Given the description of an element on the screen output the (x, y) to click on. 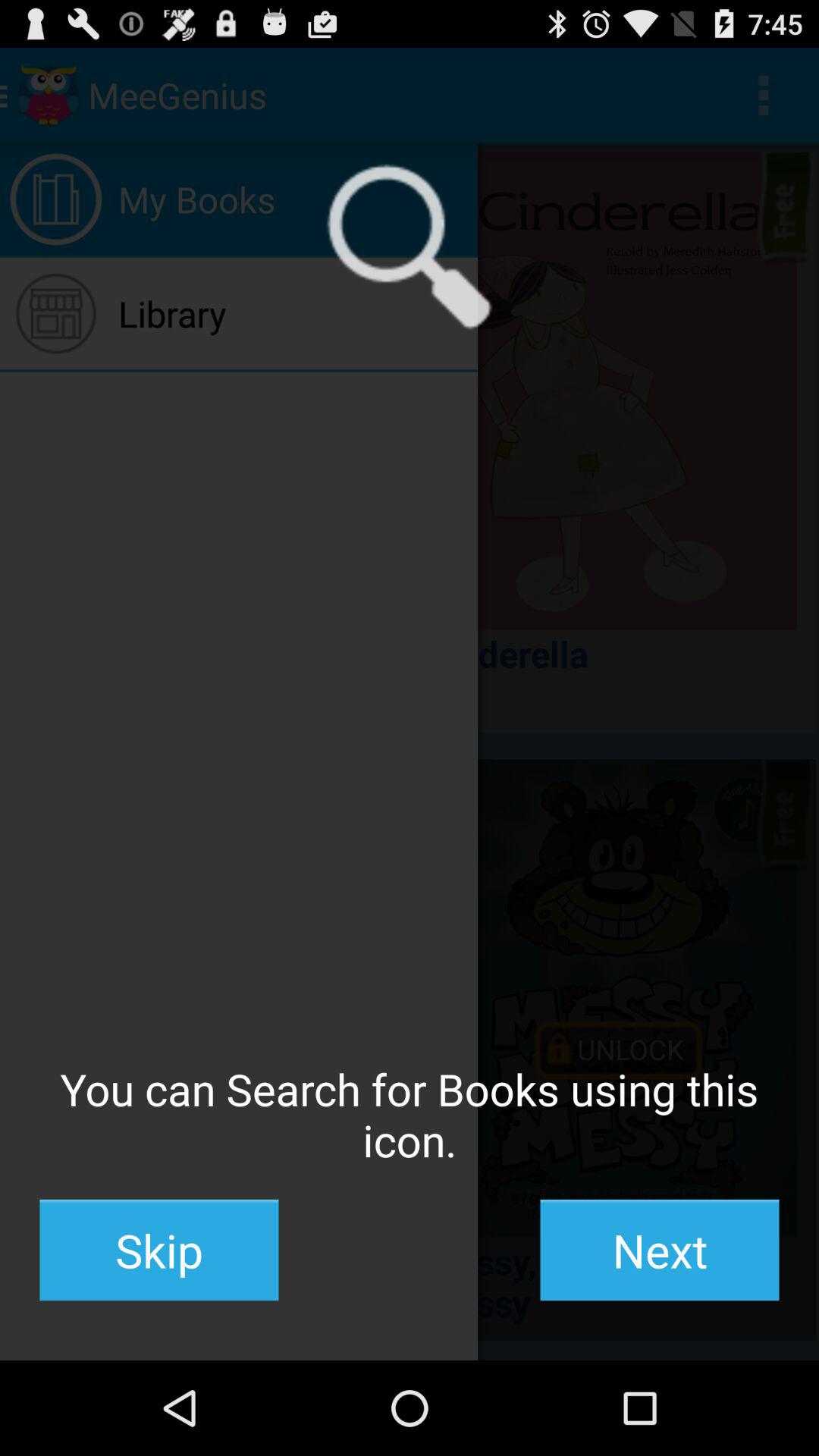
jump to the skip item (158, 1249)
